Given the description of an element on the screen output the (x, y) to click on. 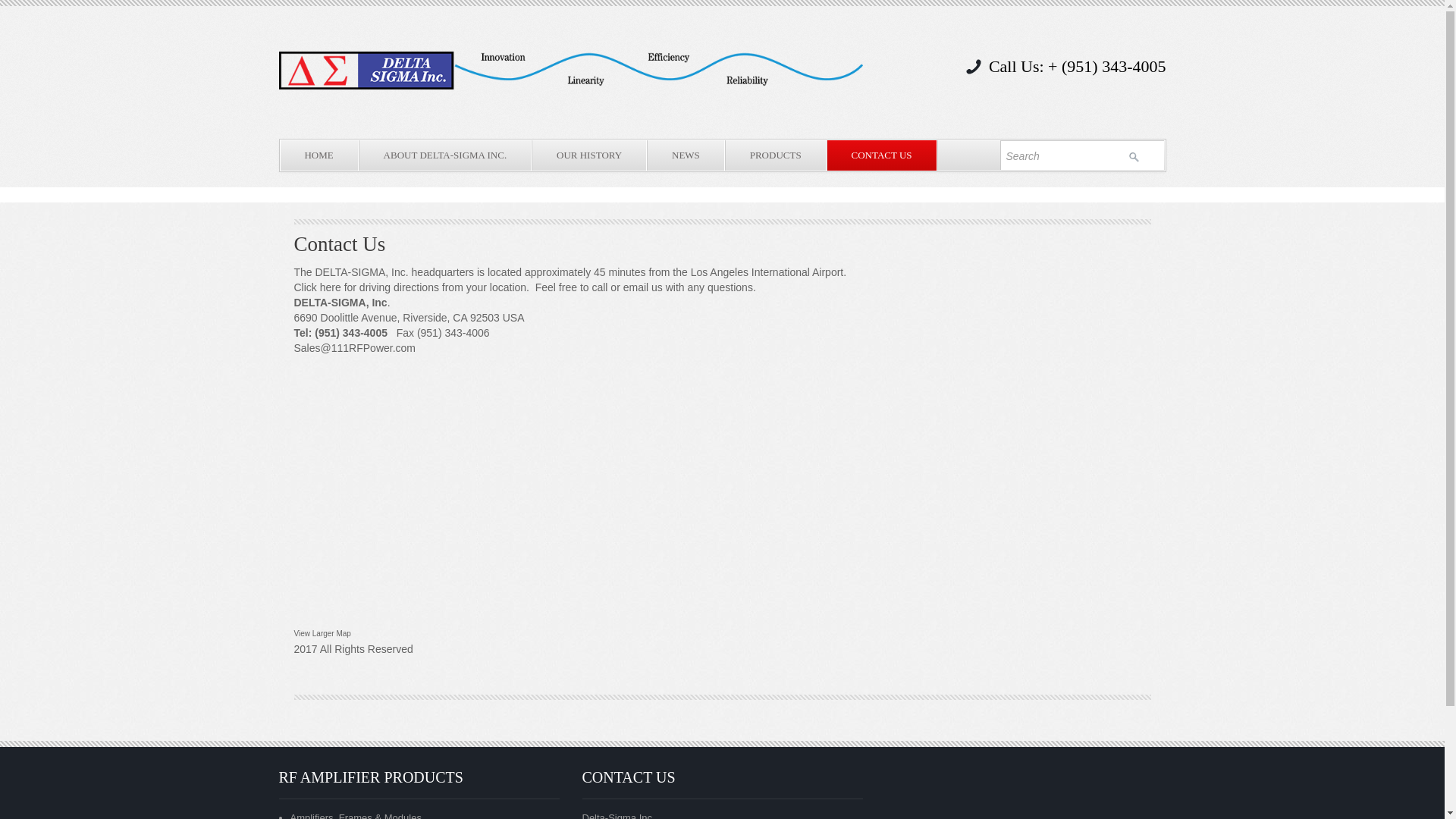
NEWS Element type: text (685, 155)
CONTACT US Element type: text (882, 155)
HOME Element type: text (319, 155)
Sign in Element type: text (1134, 155)
View Larger Map Element type: text (322, 633)
PRODUCTS Element type: text (775, 155)
OUR HISTORY Element type: text (589, 155)
Click here Element type: text (317, 287)
ABOUT DELTA-SIGMA INC. Element type: text (445, 155)
email us Element type: text (642, 287)
